Given the description of an element on the screen output the (x, y) to click on. 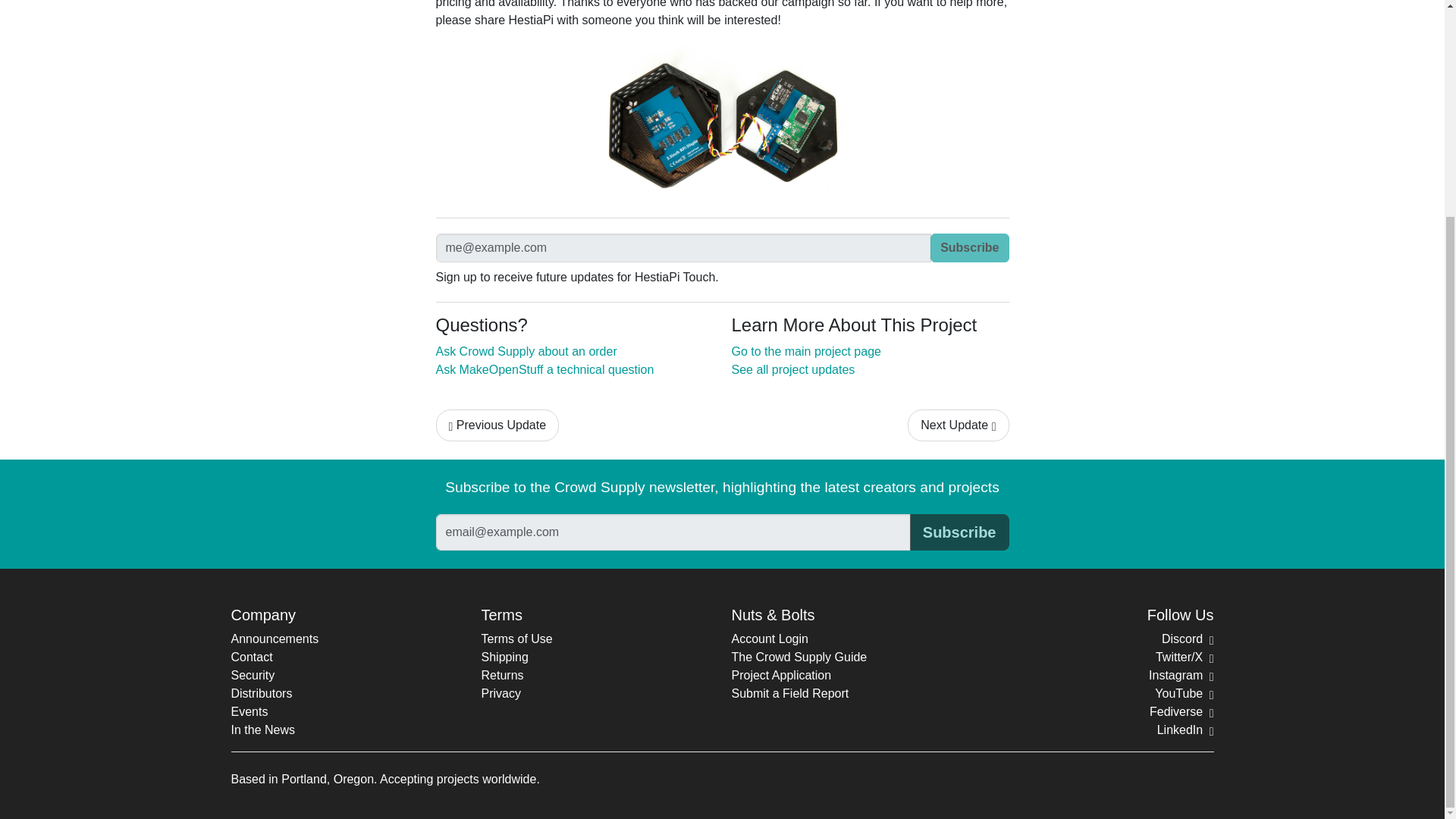
Account Login (769, 638)
Project Application (780, 675)
Privacy (499, 693)
Instagram (1180, 675)
Returns (501, 675)
The Crowd Supply Guide (798, 656)
Ask MakeOpenStuff a technical question (544, 369)
Events (248, 711)
Shipping (503, 656)
Fediverse (1182, 711)
Go to the main project page (805, 350)
Submit a Field Report (789, 693)
Security (252, 675)
Contact (251, 656)
See all project updates (792, 369)
